Given the description of an element on the screen output the (x, y) to click on. 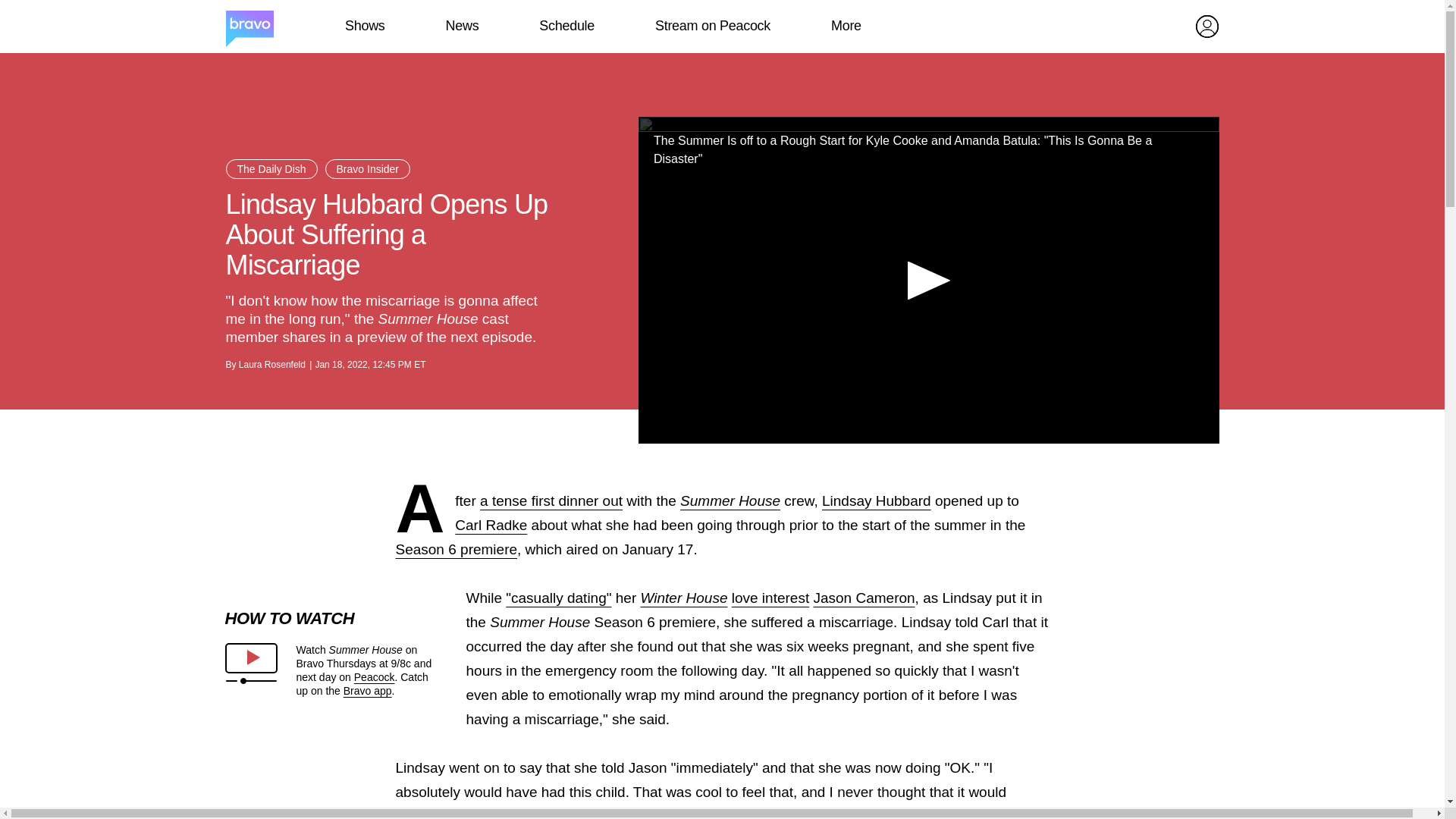
a tense first dinner out (551, 500)
Carl Radke (490, 524)
Lindsay Hubbard (876, 500)
Jason Cameron (863, 597)
Home (249, 26)
Winter House (684, 597)
Summer House (729, 500)
Peacock (373, 676)
Lindsay Hubbard (876, 500)
News (462, 26)
Schedule (566, 26)
The Daily Dish (271, 168)
More (846, 26)
love interest (770, 597)
